Given the description of an element on the screen output the (x, y) to click on. 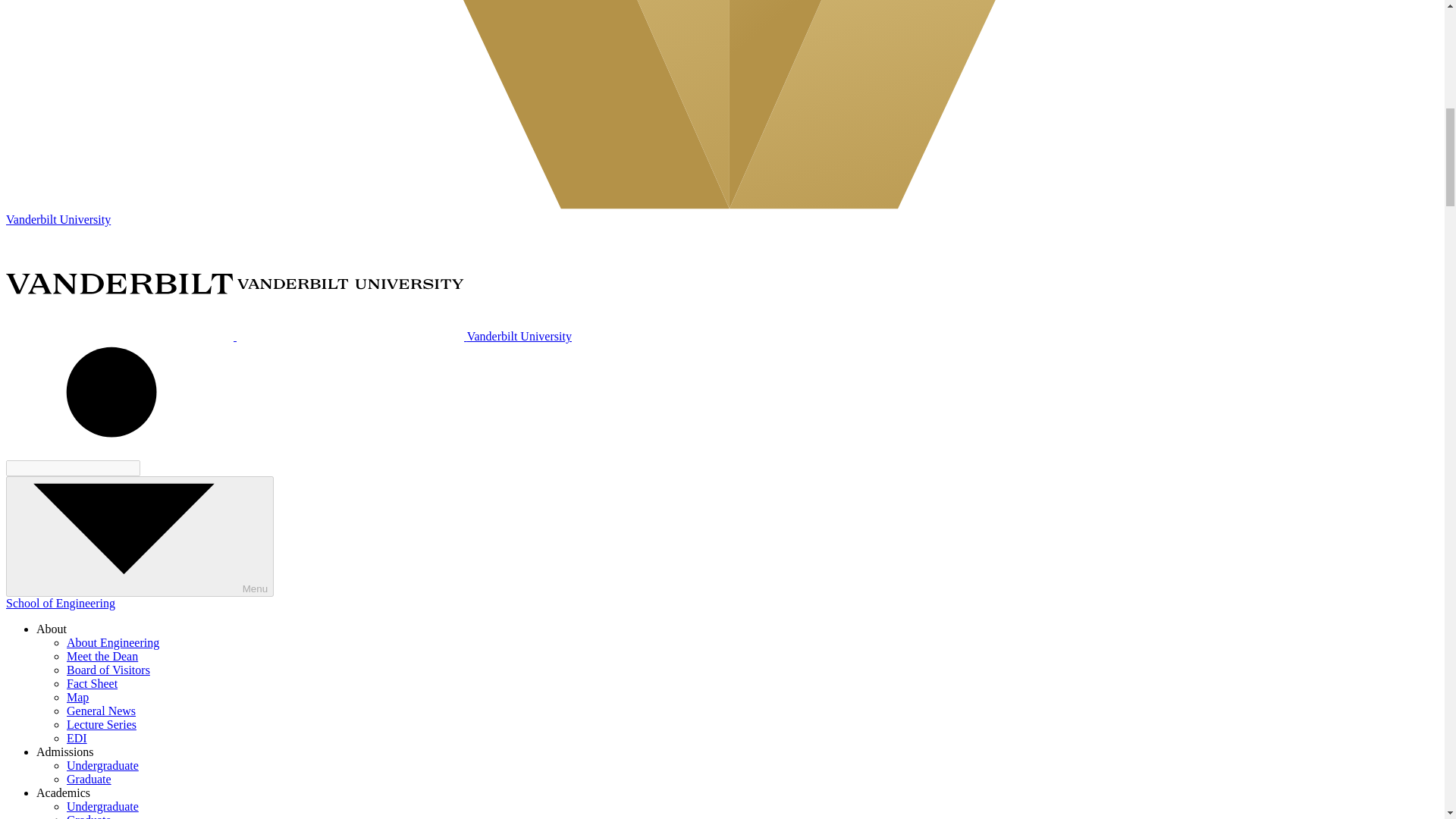
Lecture Series (101, 724)
Board of Visitors (107, 669)
General News (100, 710)
Graduate (89, 779)
Vanderbilt University (288, 336)
About Engineering (112, 642)
Meet the Dean (102, 656)
About (51, 628)
Fact Sheet (91, 683)
Menu (139, 536)
Admissions (65, 751)
EDI (76, 738)
Map (77, 697)
Academics (63, 792)
Undergraduate (102, 765)
